Given the description of an element on the screen output the (x, y) to click on. 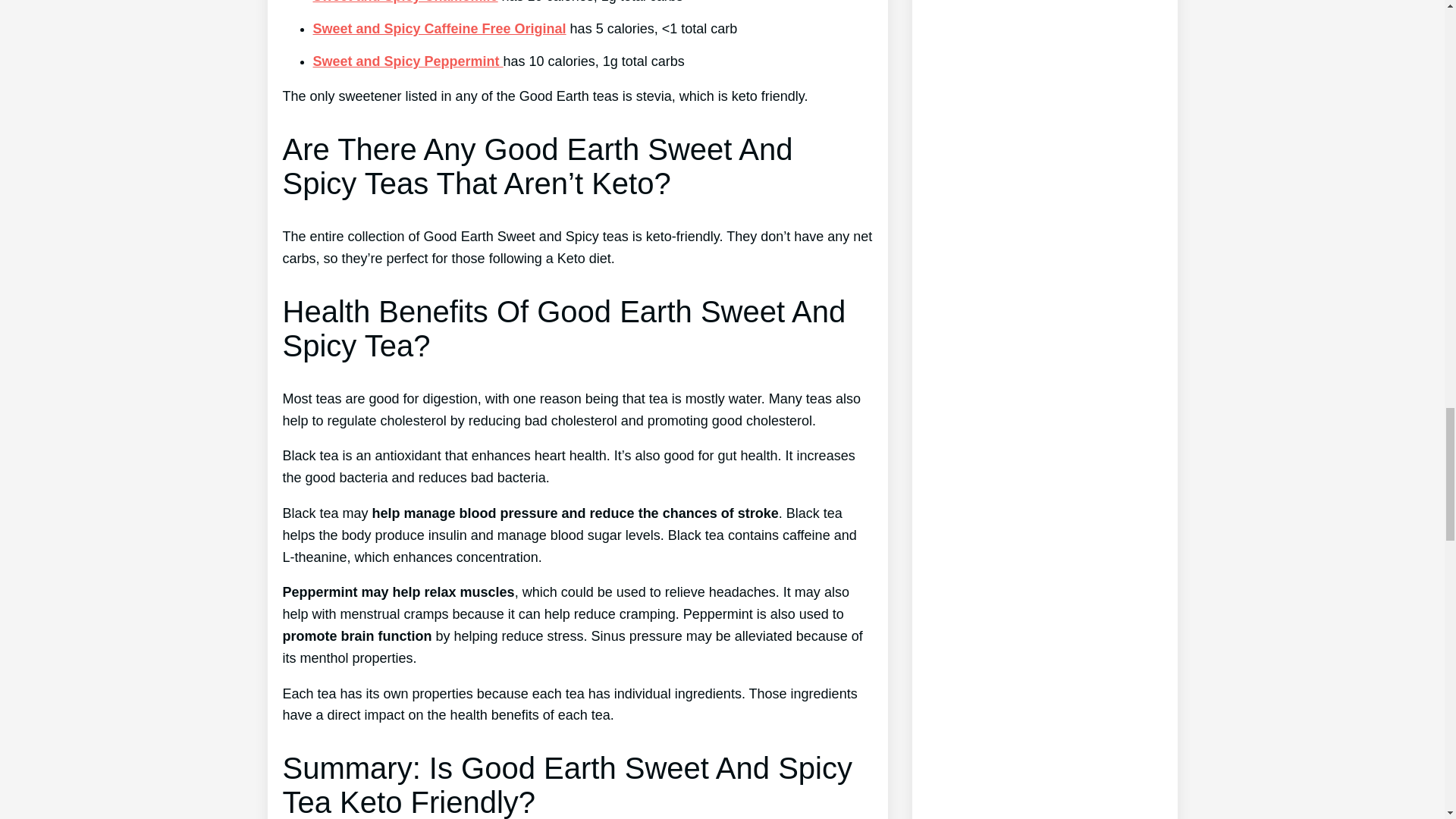
Sweet and Spicy Caffeine Free Original (439, 28)
Sweet and Spicy Peppermint (407, 61)
Sweet and Spicy Chamomile (405, 2)
